Given the description of an element on the screen output the (x, y) to click on. 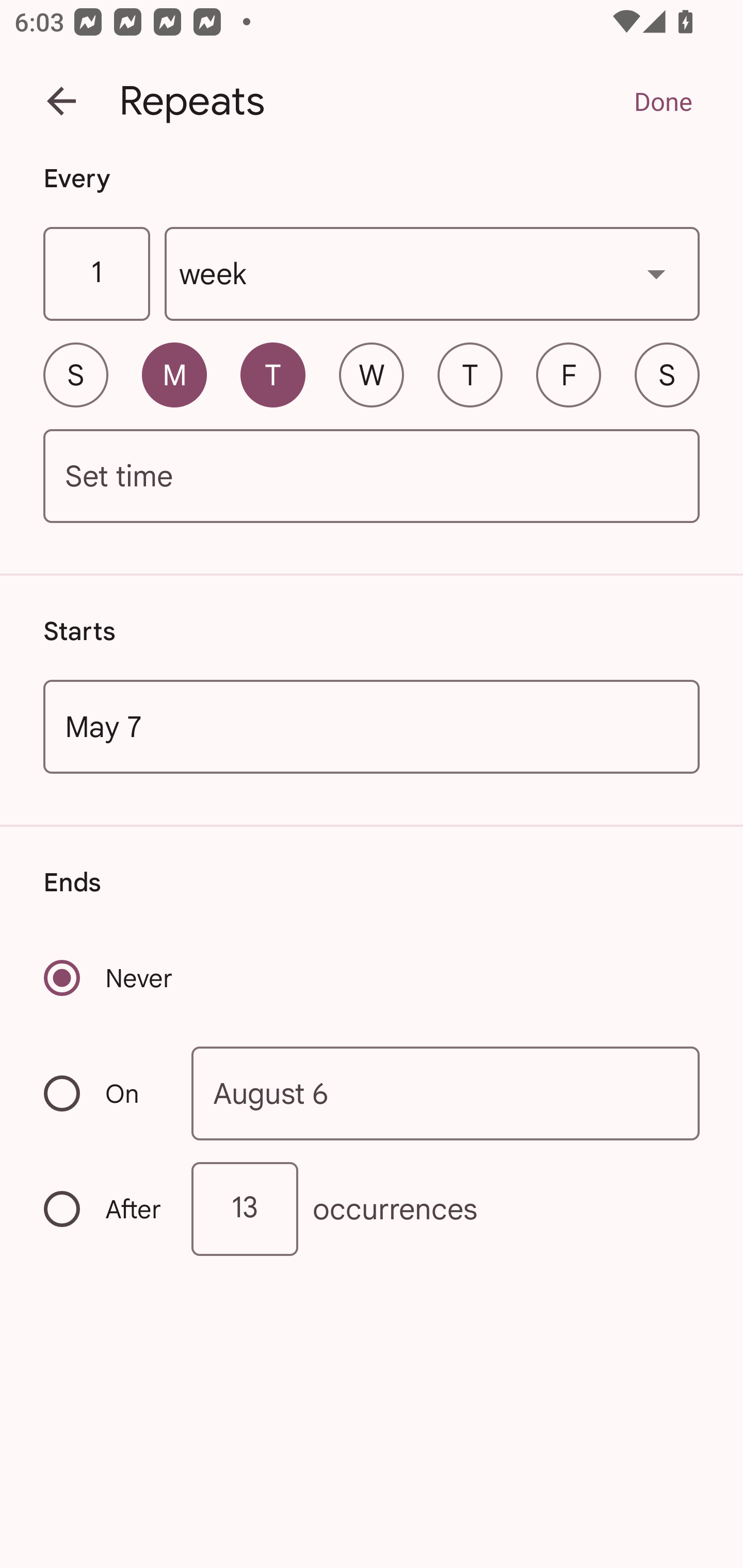
Back (61, 101)
Done (663, 101)
1 (96, 274)
week (431, 274)
Show dropdown menu (655, 273)
S Sunday (75, 374)
M Monday, selected (173, 374)
T Tuesday, selected (272, 374)
W Wednesday (371, 374)
T Thursday (469, 374)
F Friday (568, 374)
S Saturday (666, 374)
Set time (371, 476)
May 7 (371, 726)
Never Recurrence never ends (109, 978)
August 6 (445, 1092)
On Recurrence ends on a specific date (104, 1093)
13 (244, 1208)
